Given the description of an element on the screen output the (x, y) to click on. 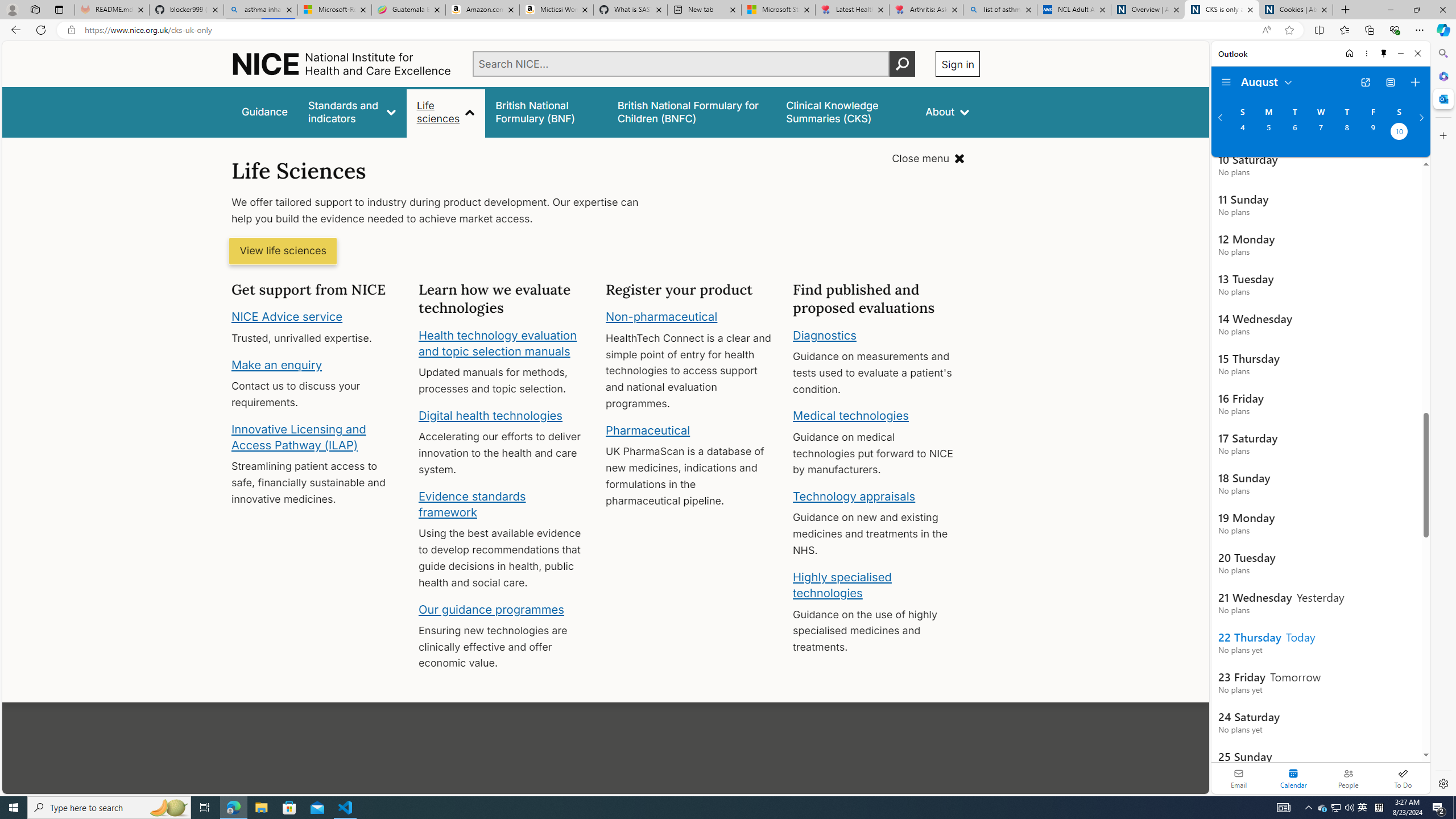
Health technology evaluation and topic selection manuals (496, 342)
To Do (1402, 777)
Pharmaceutical (647, 429)
